Given the description of an element on the screen output the (x, y) to click on. 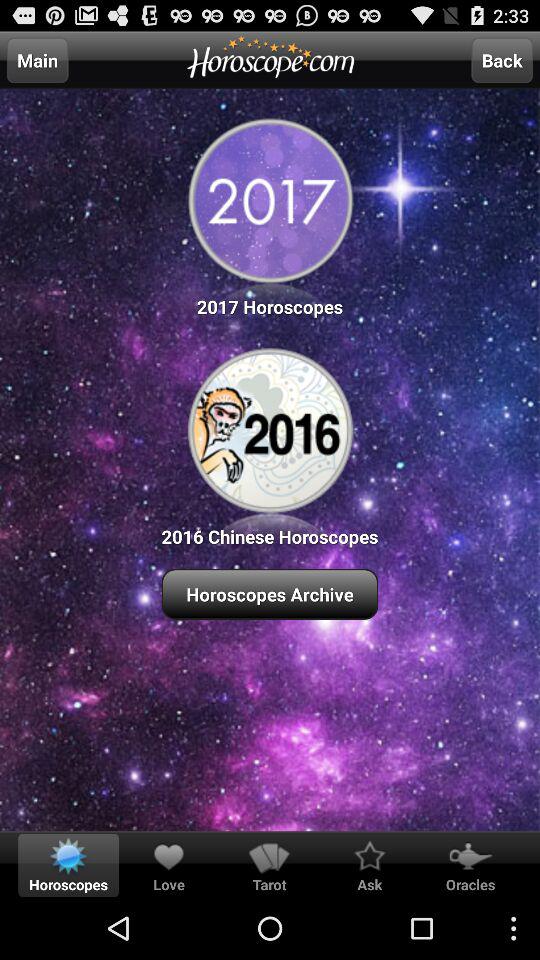
jump until main item (37, 60)
